Given the description of an element on the screen output the (x, y) to click on. 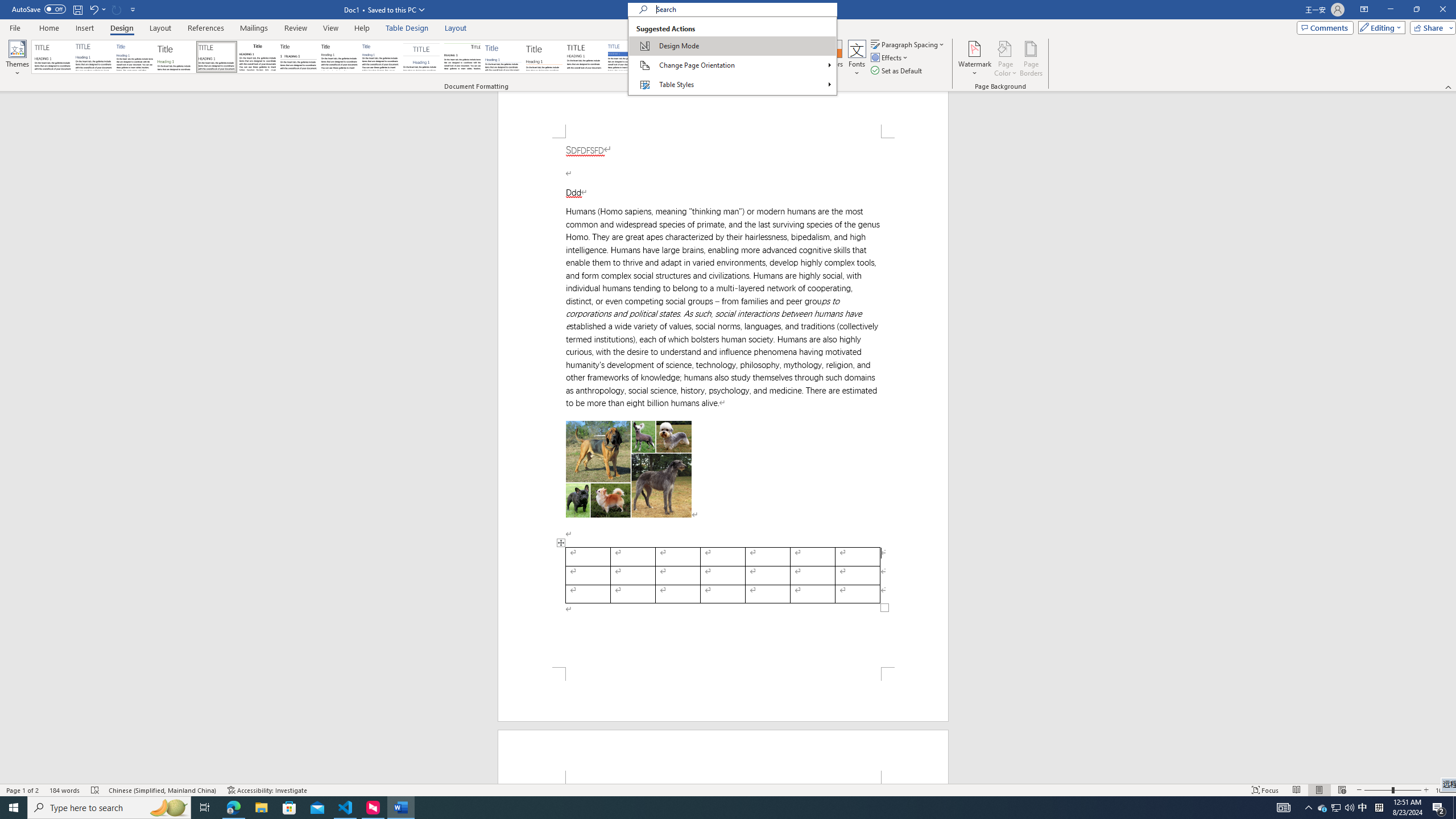
Language Chinese (Simplified, Mainland China) (162, 790)
Word Count 184 words (64, 790)
Word 2013 (790, 56)
AutomationID: QuickStylesSets (425, 56)
Black & White (Word 2013) (338, 56)
Undo Apply Quick Style Set (92, 9)
Editing (1379, 27)
Undo Apply Quick Style Set (96, 9)
Class: MsoCommandBar (728, 45)
Colors (832, 58)
